Given the description of an element on the screen output the (x, y) to click on. 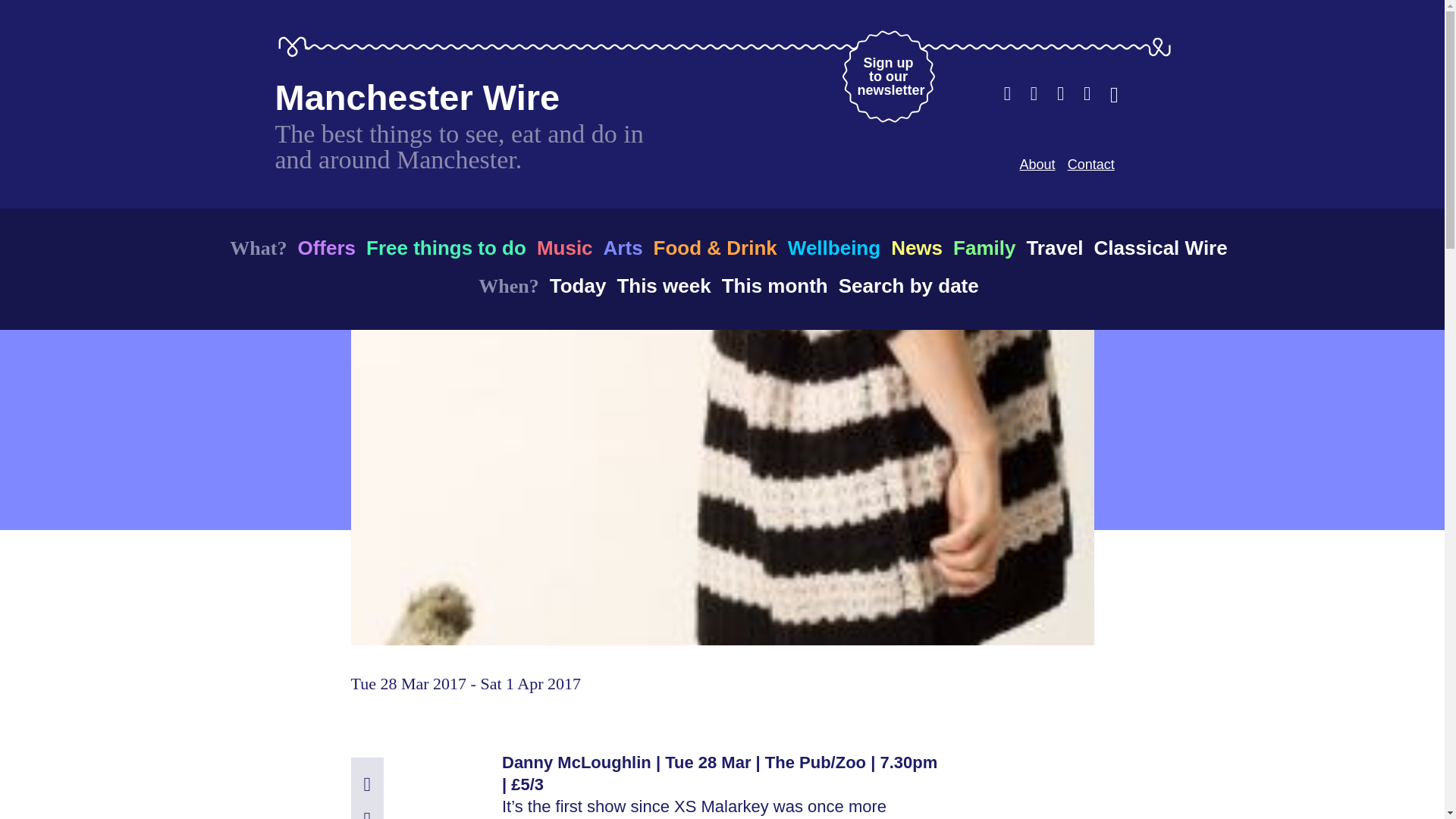
Contact (1091, 164)
Family (983, 248)
Classical Wire (1160, 248)
Wellbeing (833, 248)
Offers (326, 248)
Arts (623, 248)
This week (662, 285)
Travel (1054, 248)
Music (564, 248)
This month (775, 285)
